Given the description of an element on the screen output the (x, y) to click on. 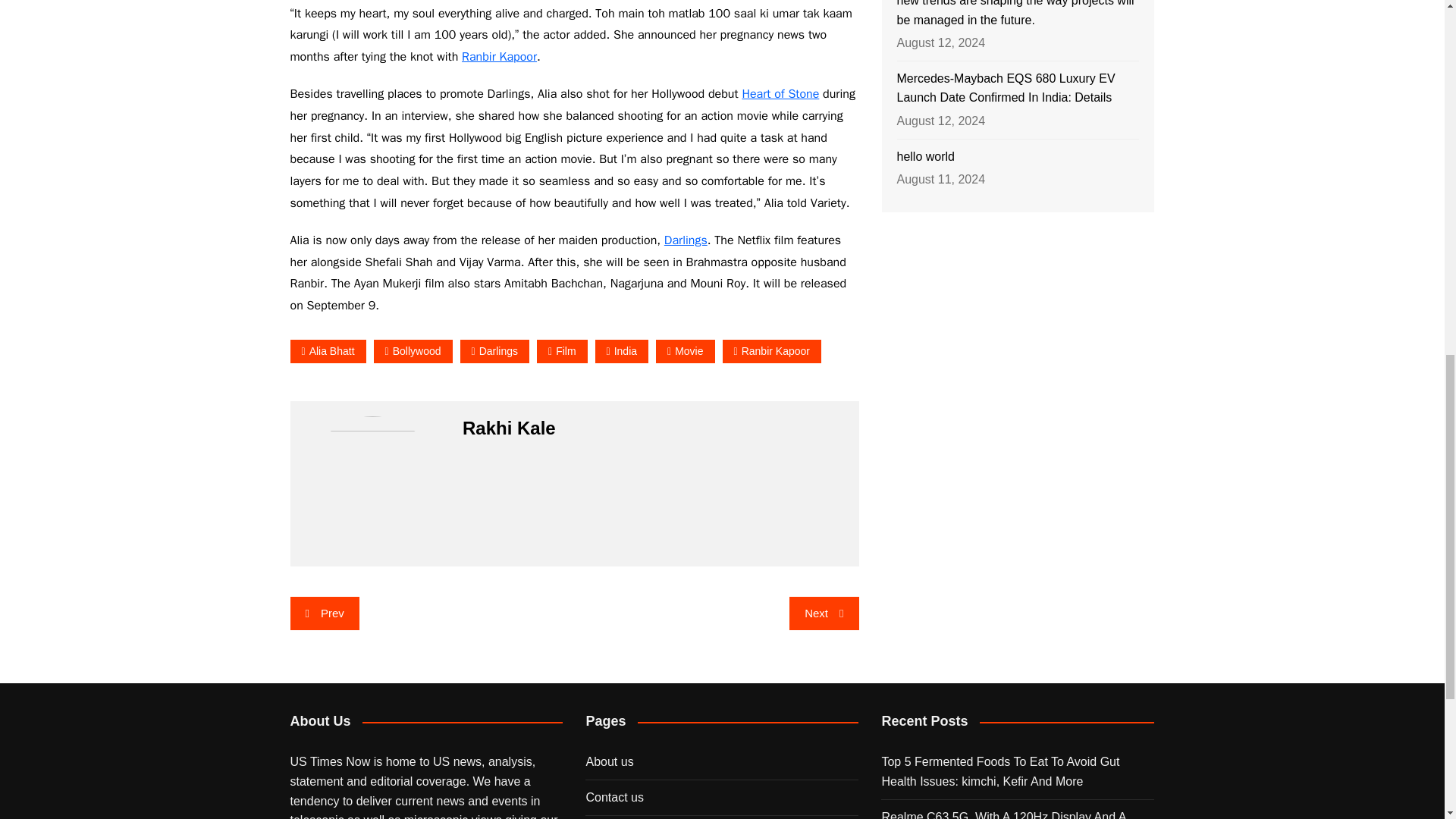
Movie (685, 351)
Bollywood (413, 351)
Ranbir Kapoor (499, 56)
Film (562, 351)
Heart of Stone (779, 93)
Alia Bhatt (327, 351)
Darlings (685, 240)
Prev (323, 613)
Ranbir Kapoor (771, 351)
Next (824, 613)
